Given the description of an element on the screen output the (x, y) to click on. 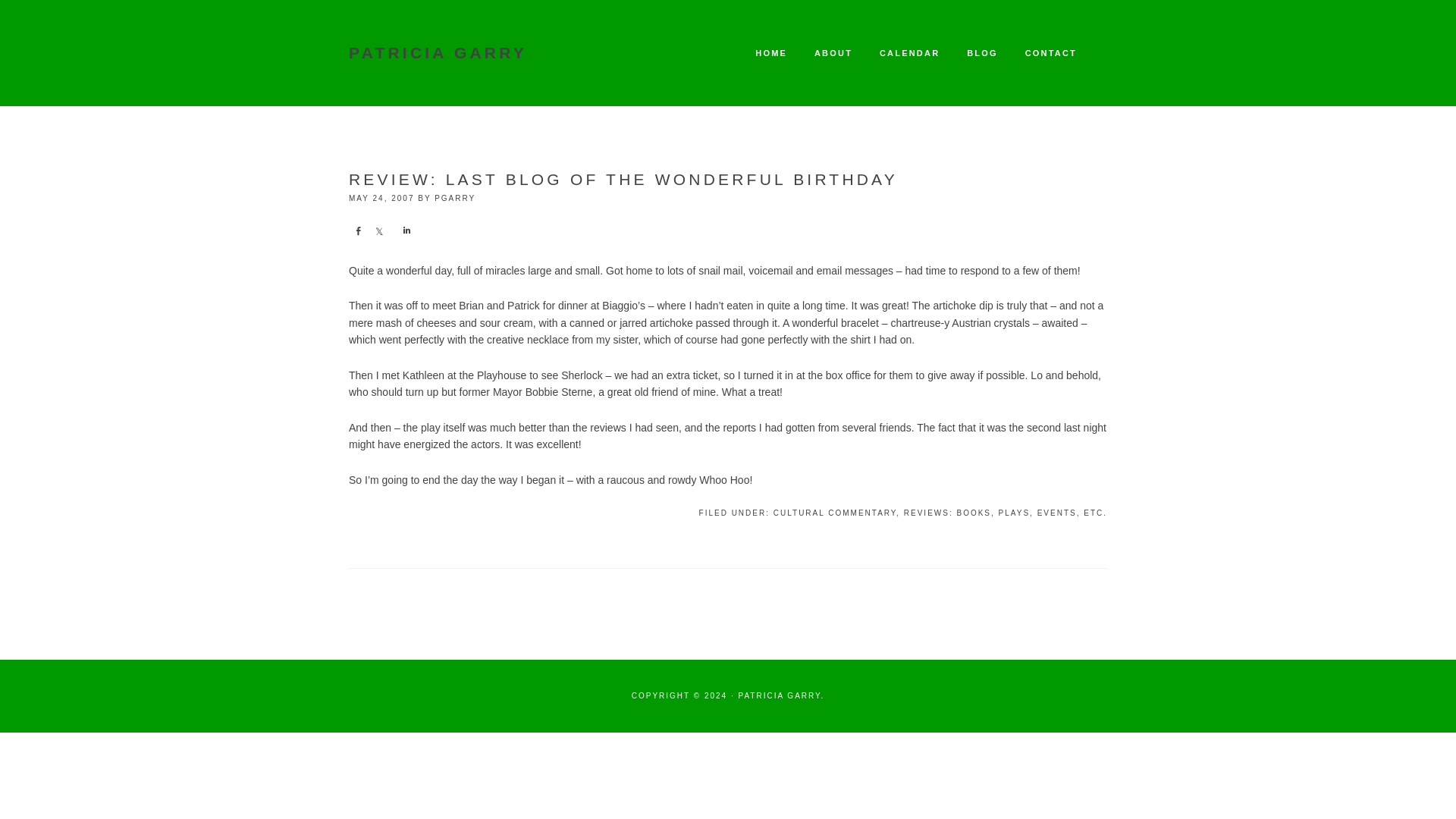
CULTURAL COMMENTARY (834, 512)
REVIEWS: BOOKS, PLAYS, EVENTS, ETC. (1005, 512)
CONTACT (1051, 53)
Share (379, 230)
Share (405, 230)
PATRICIA GARRY (438, 53)
Share (357, 230)
CALENDAR (909, 53)
PGARRY (454, 198)
